Given the description of an element on the screen output the (x, y) to click on. 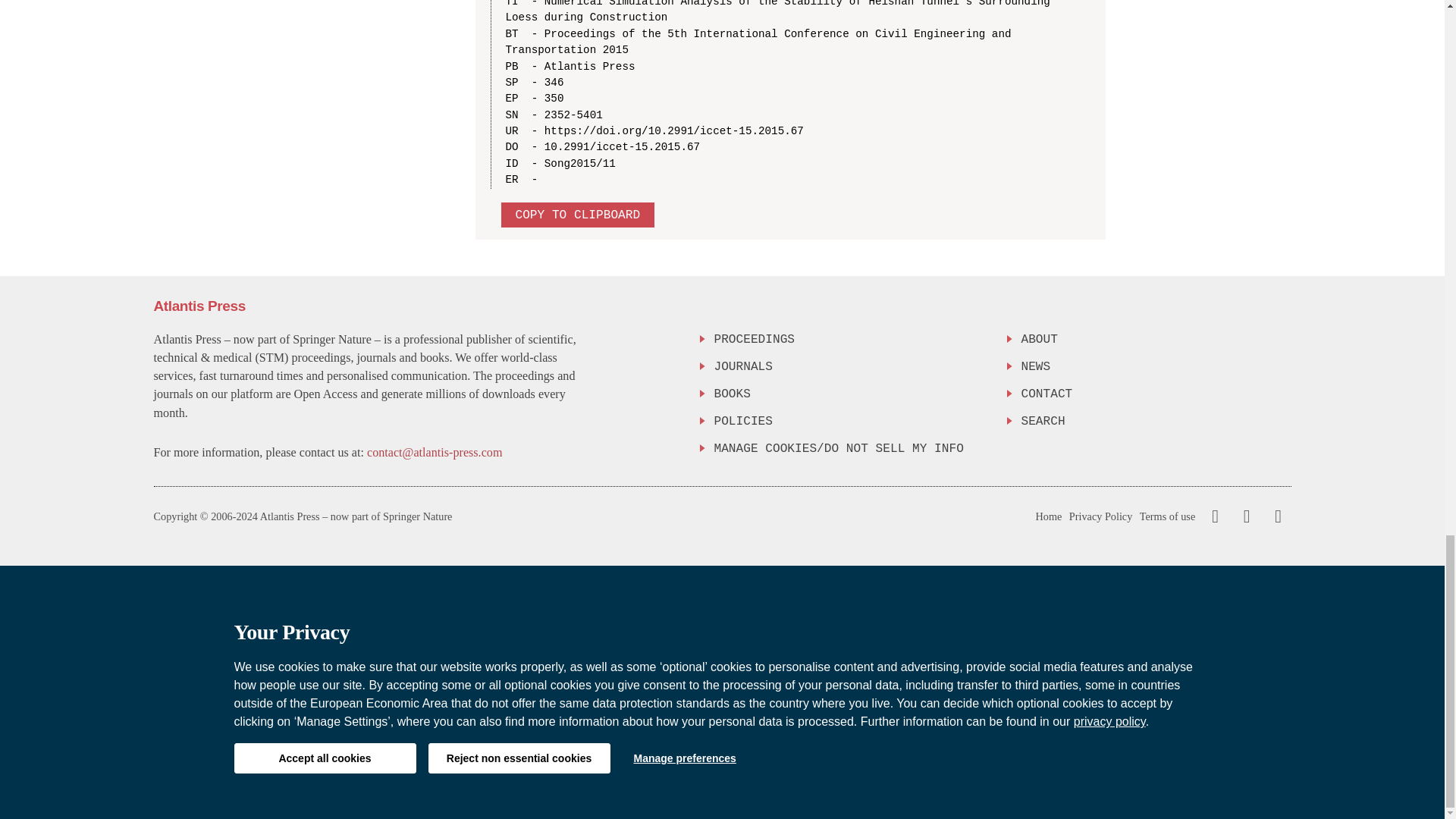
Facebook (1215, 516)
LinkedIn (1275, 516)
Twitter (1243, 516)
